Given the description of an element on the screen output the (x, y) to click on. 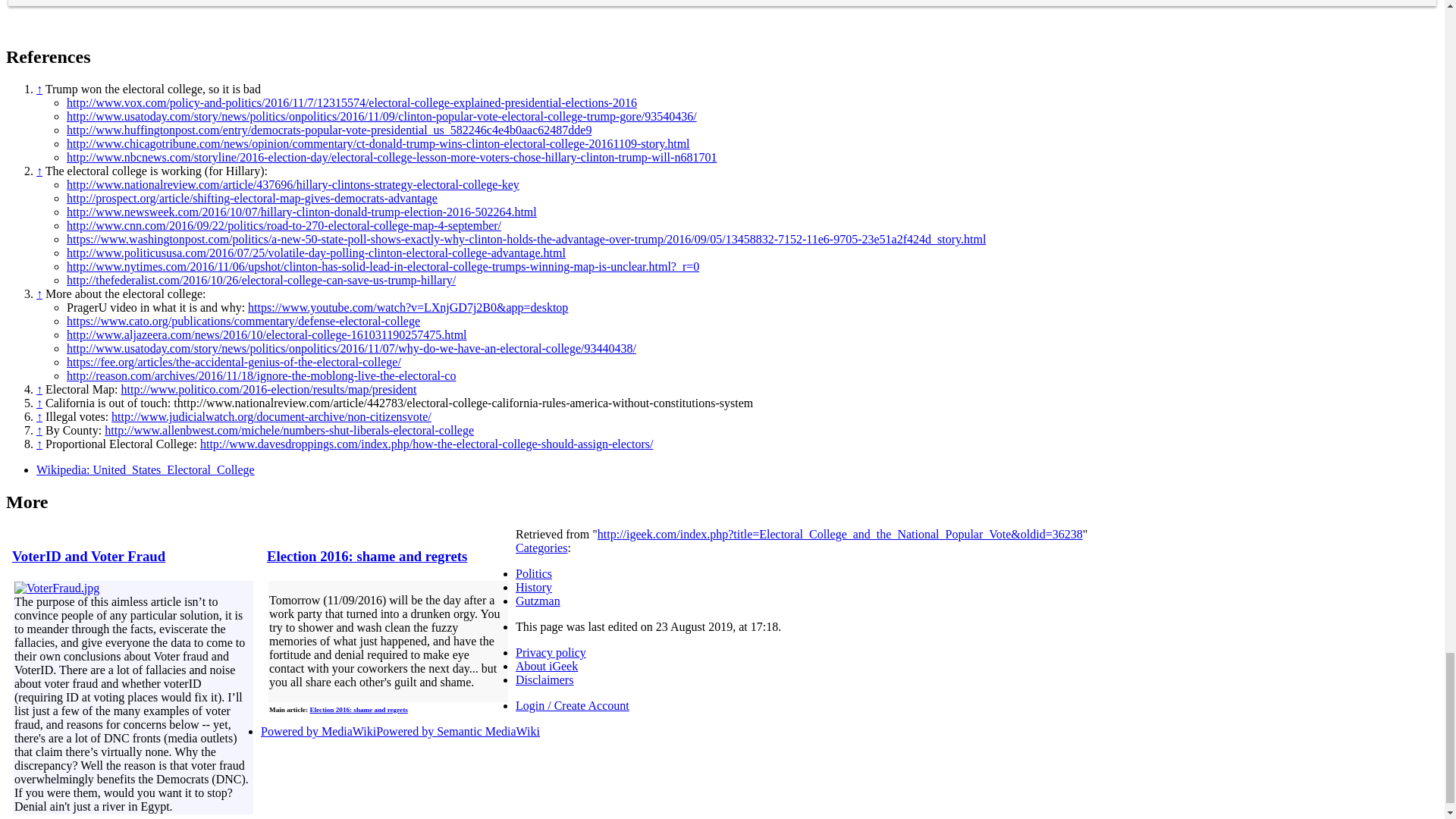
Category:Politics (533, 573)
iGeek:General disclaimer (544, 679)
wikipedia:United States Electoral College (145, 469)
Category:Gutzman (537, 600)
iGeek:Privacy policy (550, 652)
Election 2016: shame and regrets (366, 555)
Category:History (533, 586)
Election 2016: shame and regrets (357, 709)
iGeek:About (546, 666)
Special:Categories (541, 547)
VoterID and Voter Fraud (88, 555)
